Given the description of an element on the screen output the (x, y) to click on. 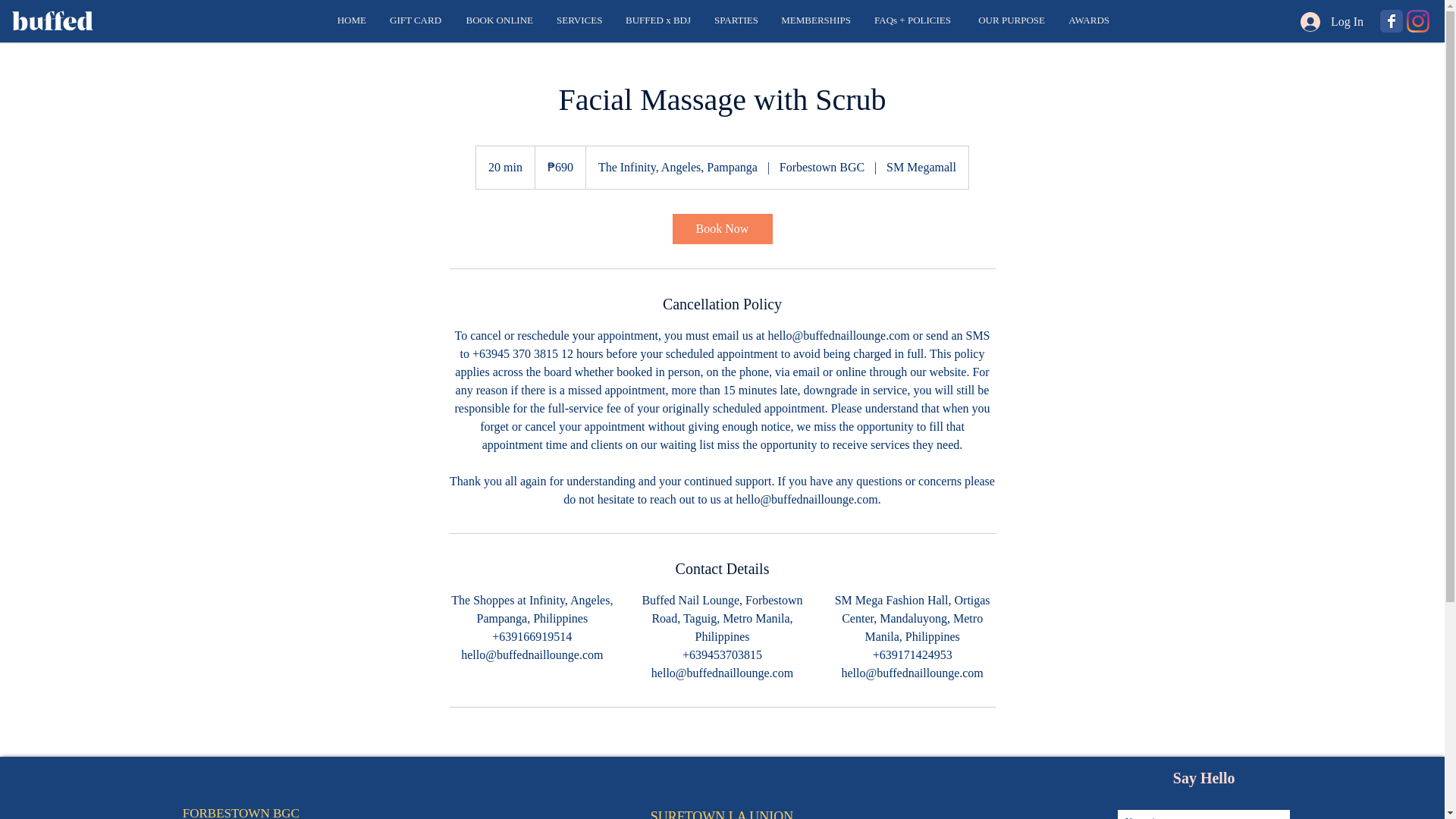
BOOK ONLINE (498, 20)
MEMBERSHIPS (814, 20)
HOME (350, 20)
GIFT CARD (414, 20)
BUFFED x BDJ (656, 20)
SPARTIES (734, 20)
AWARDS (1089, 20)
Book Now (721, 228)
OUR PURPOSE (1008, 20)
Log In (1322, 21)
